Given the description of an element on the screen output the (x, y) to click on. 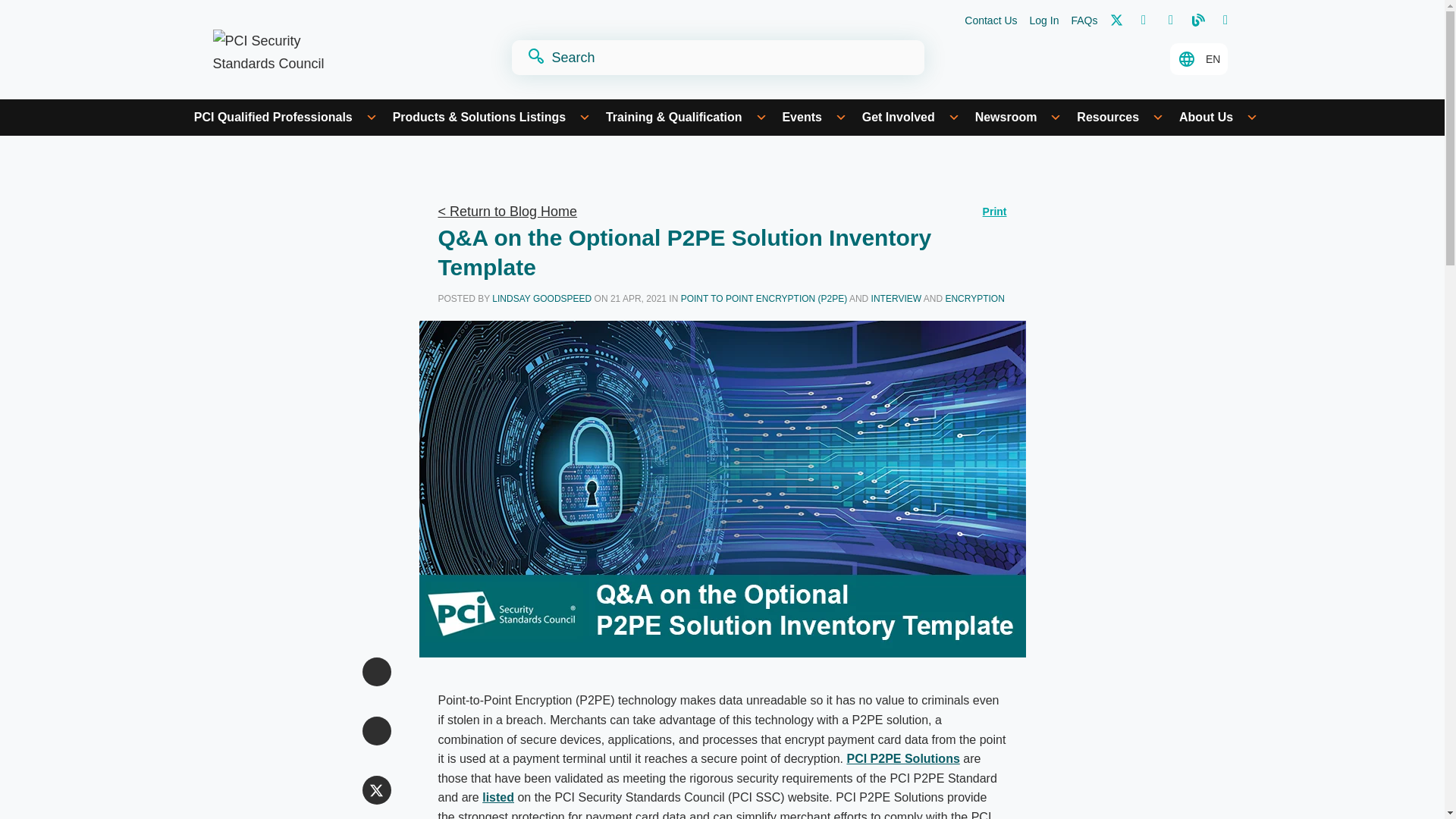
Share (376, 671)
Contact Us (989, 20)
PCI Qualified Professionals (285, 117)
Share (376, 789)
EN (1198, 59)
Share (376, 730)
